Given the description of an element on the screen output the (x, y) to click on. 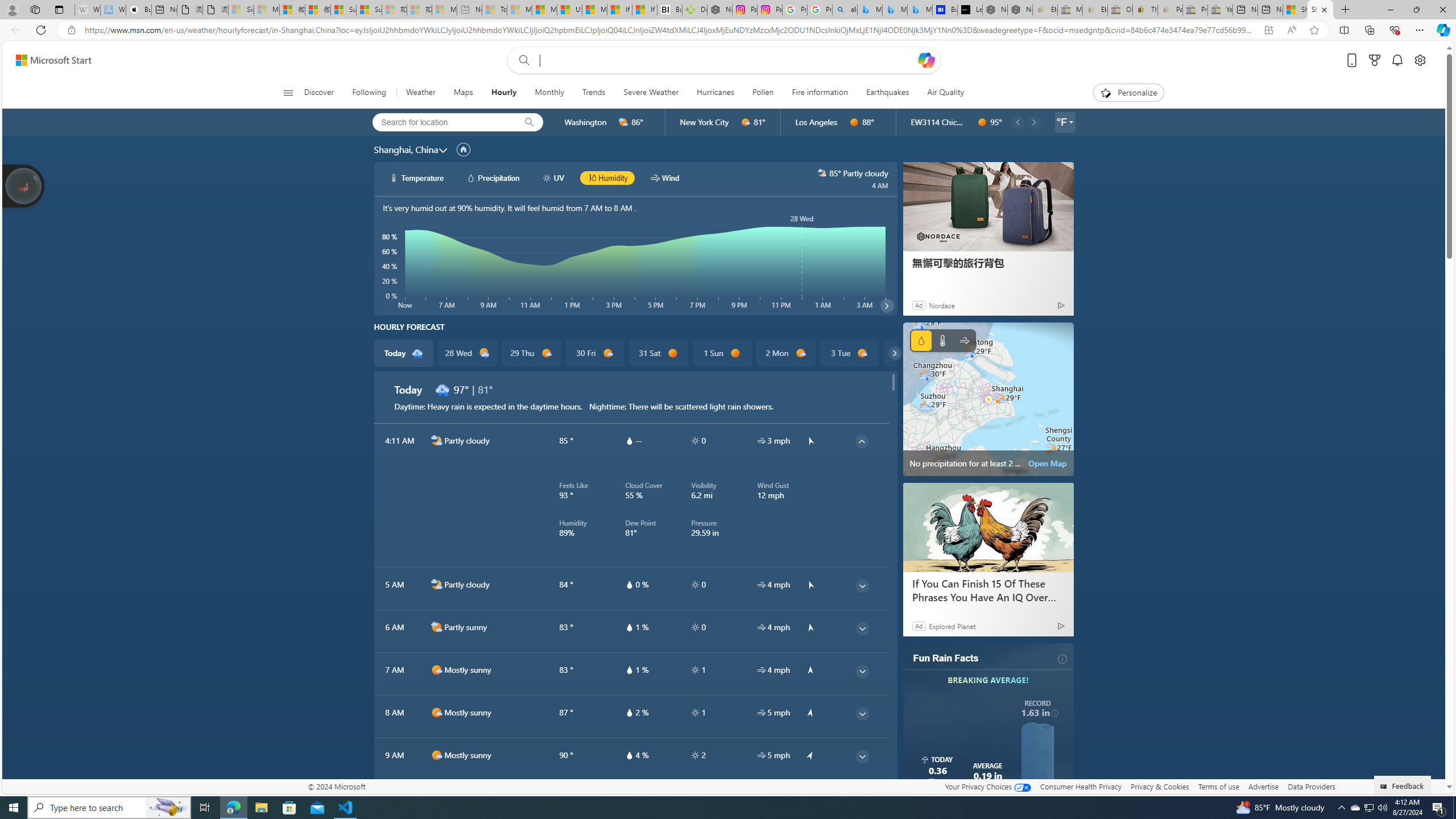
hourlyChart/temperatureWhite Temperature (416, 178)
hourlyChart/humidityBlack (591, 177)
hourlyTable/uv (694, 755)
d1000 (436, 797)
n2000 (436, 584)
1 Sun d0000 (721, 352)
Your Privacy Choices (987, 786)
Your Privacy Choices (987, 785)
Microsoft Bing Travel - Shangri-La Hotel Bangkok (919, 9)
Monthly (549, 92)
locationName/setHomeLocation (462, 149)
